Given the description of an element on the screen output the (x, y) to click on. 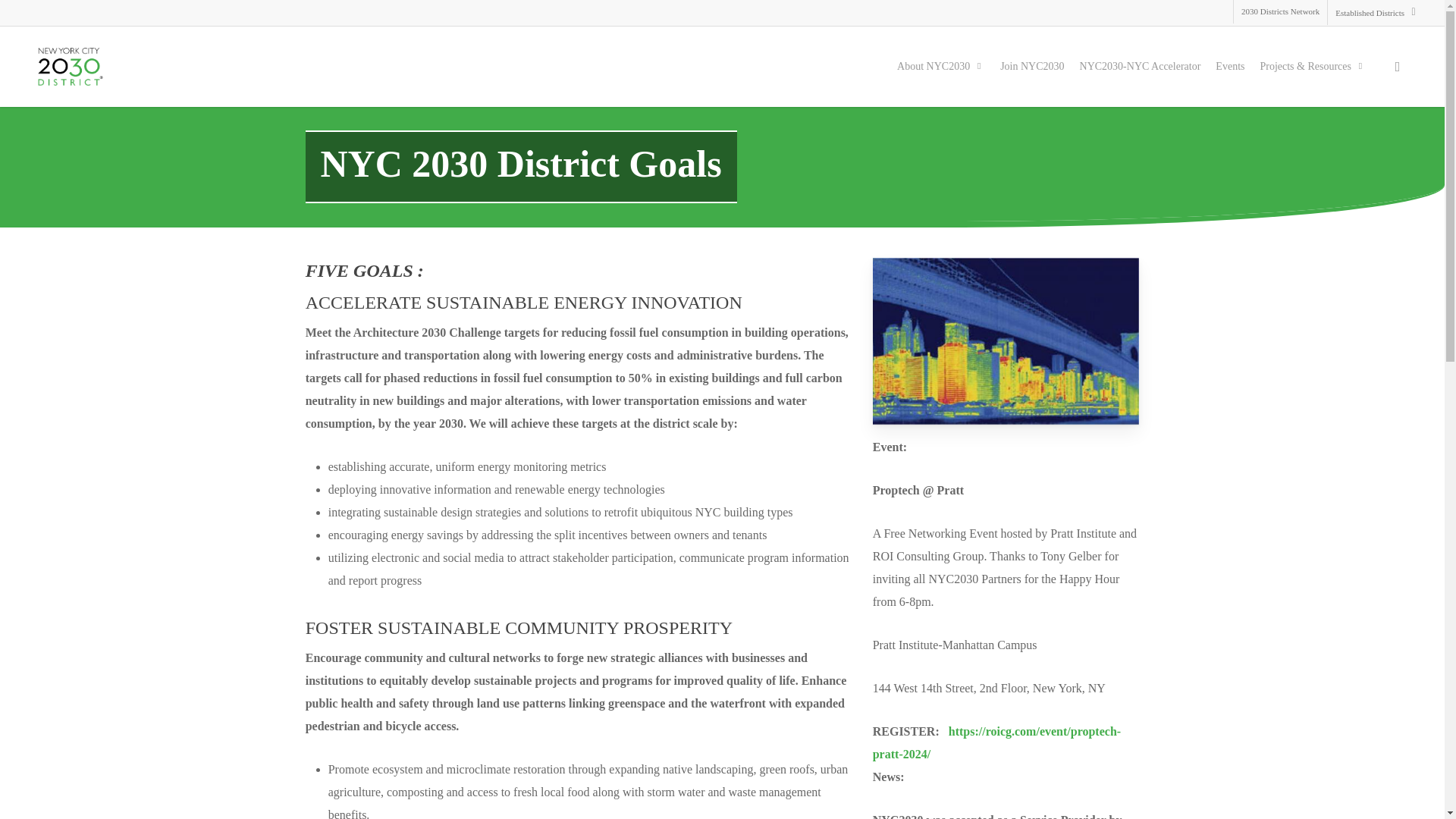
About NYC2030 (940, 66)
Established Districts (1374, 12)
2030 Districts Network (1279, 11)
